Given the description of an element on the screen output the (x, y) to click on. 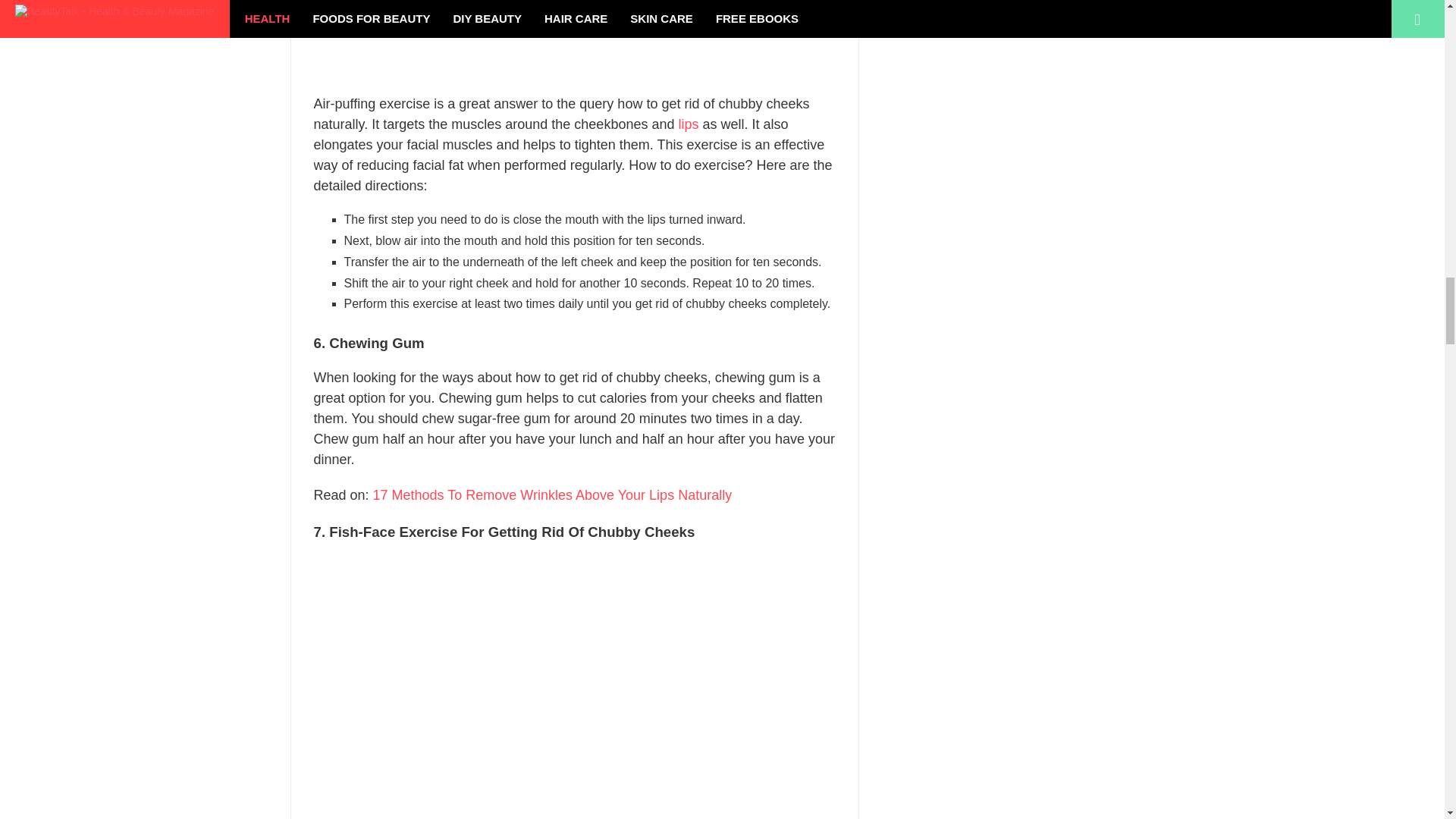
lips (688, 124)
17 Methods To Remove Wrinkles Above Your Lips Naturally (552, 494)
how to get rid of chubby cheeks - air-puffing exercise (574, 39)
